Given the description of an element on the screen output the (x, y) to click on. 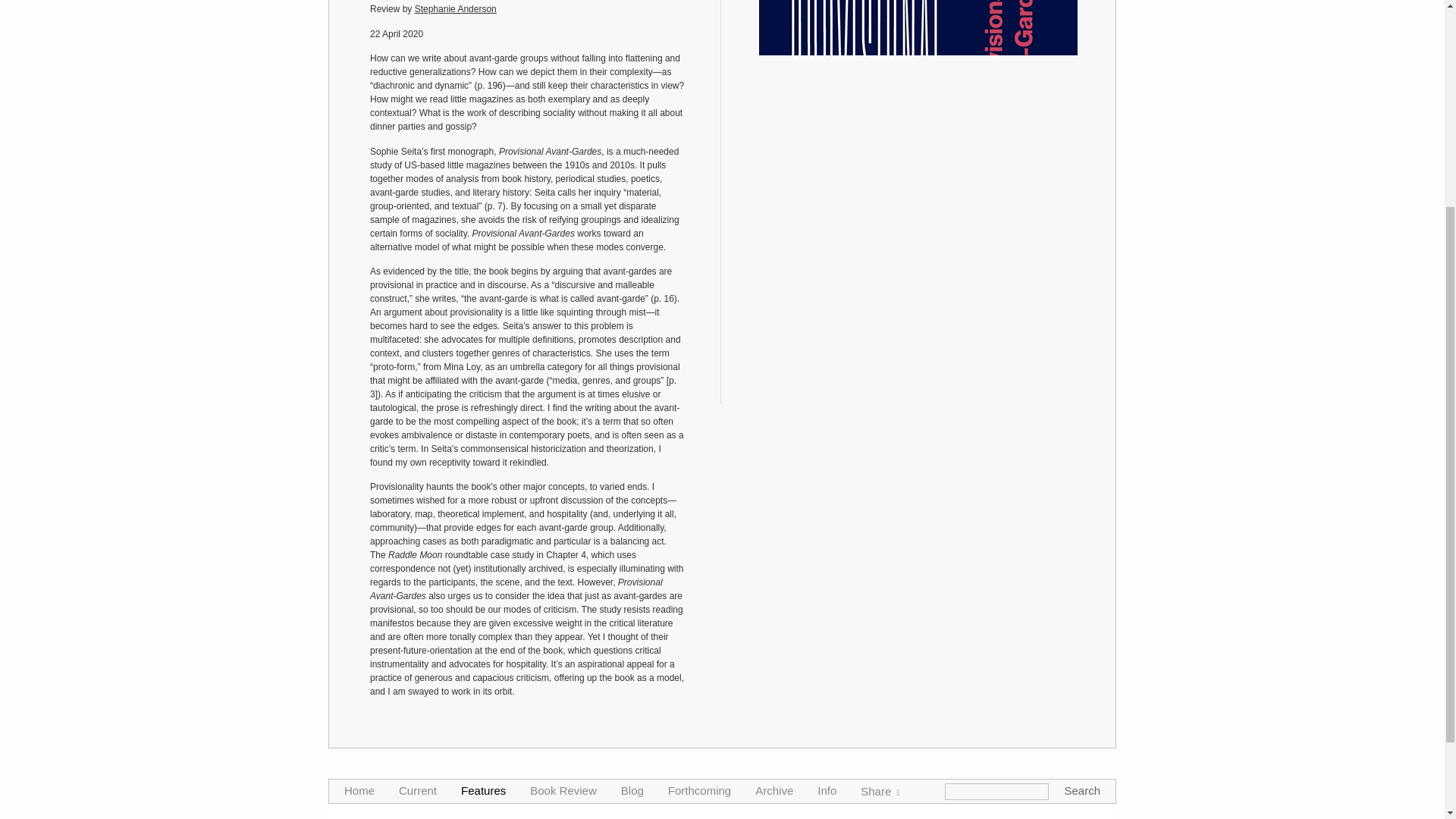
Current (417, 490)
Stephanie Anderson (455, 9)
Home (358, 490)
Book Review (562, 490)
Archive (774, 490)
Forthcoming (699, 490)
Chicago Journals (721, 782)
Share (879, 490)
Search (1082, 489)
Blog (632, 490)
Info (825, 490)
Features (483, 490)
Search (1082, 489)
